Given the description of an element on the screen output the (x, y) to click on. 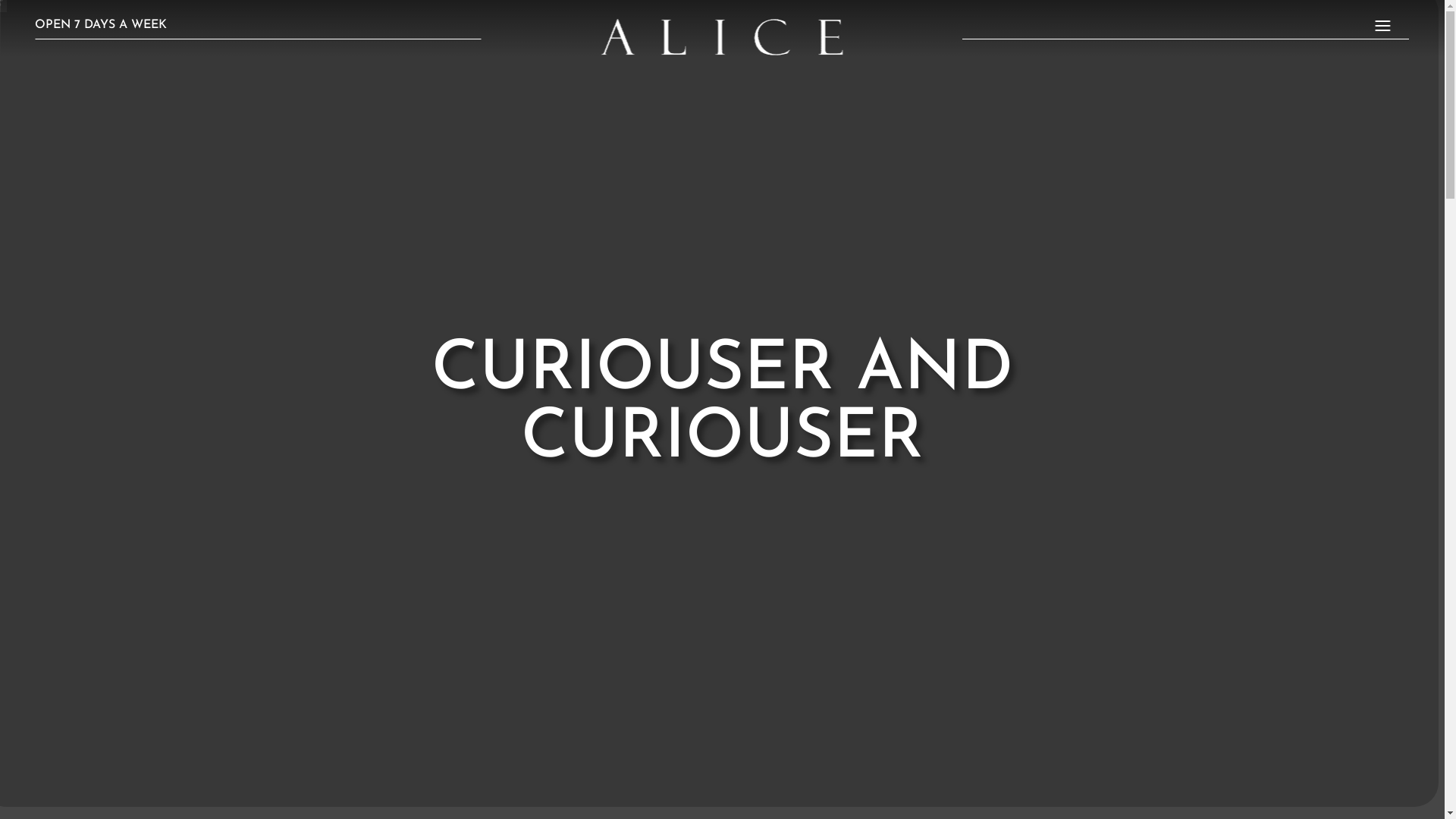
alice_logo_white1-e1674078100625 Element type: hover (722, 36)
